Given the description of an element on the screen output the (x, y) to click on. 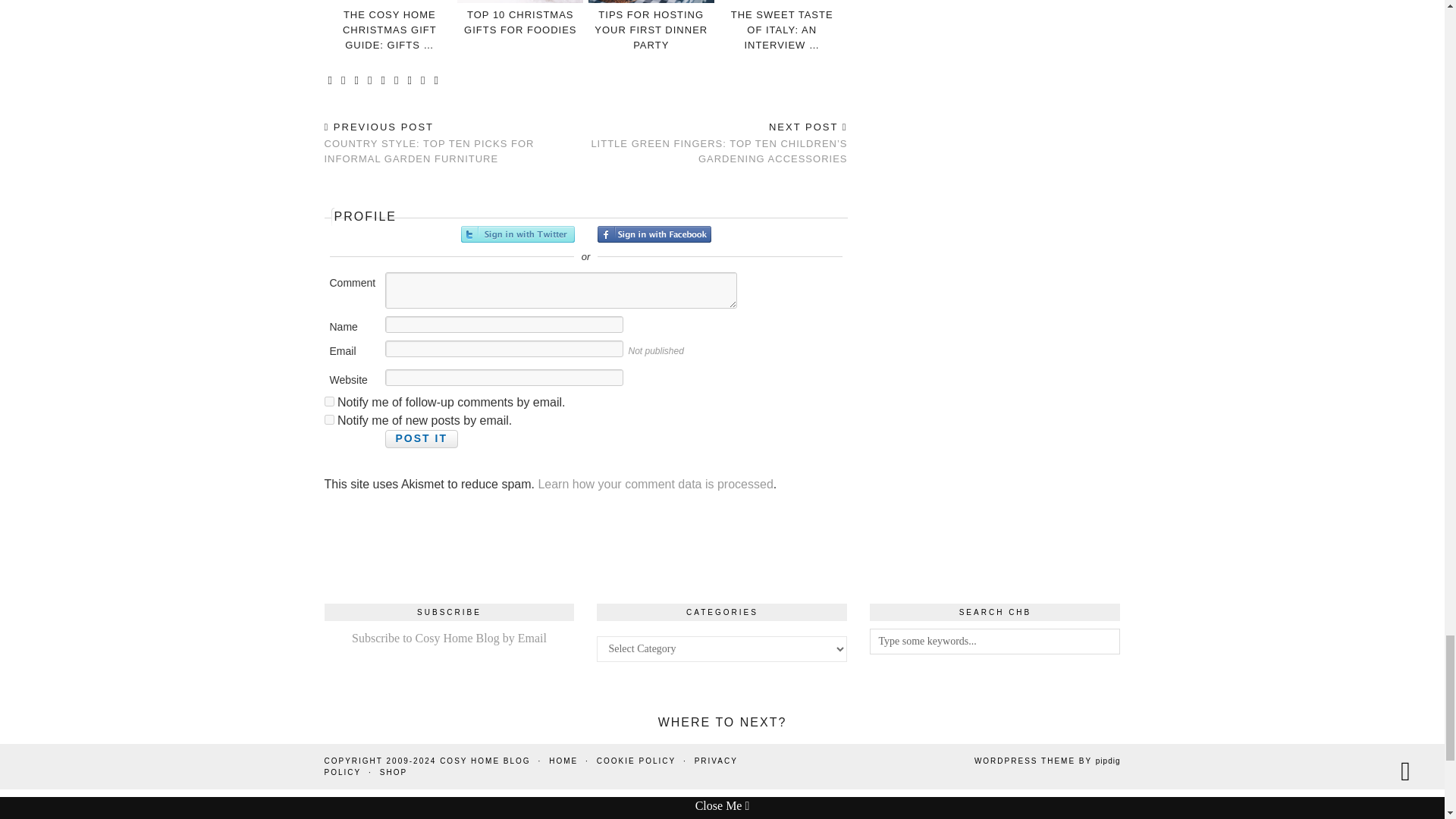
Post It (421, 467)
subscribe (329, 448)
subscribe (329, 429)
